Given the description of an element on the screen output the (x, y) to click on. 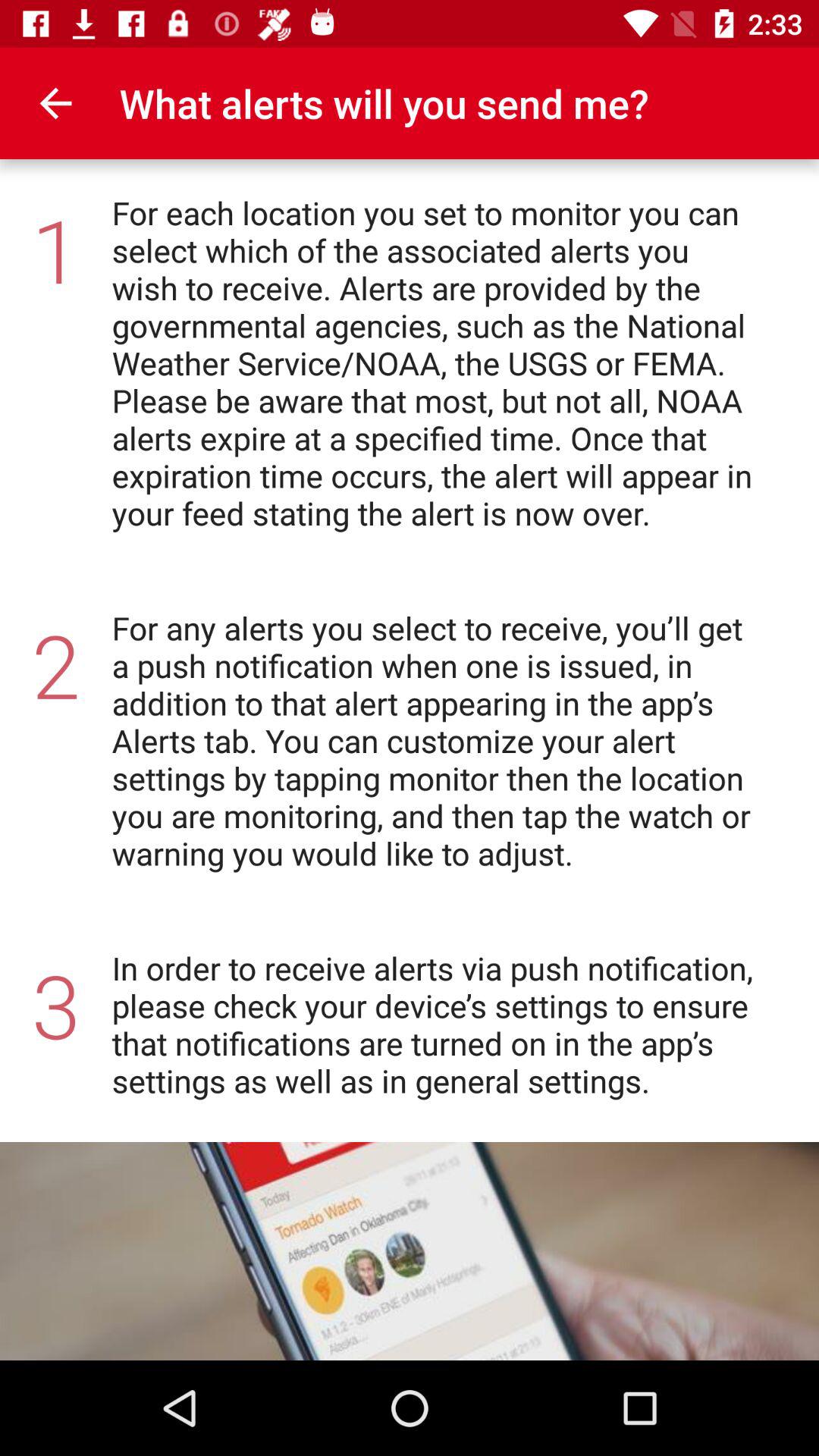
turn off item above the 1 item (55, 103)
